Given the description of an element on the screen output the (x, y) to click on. 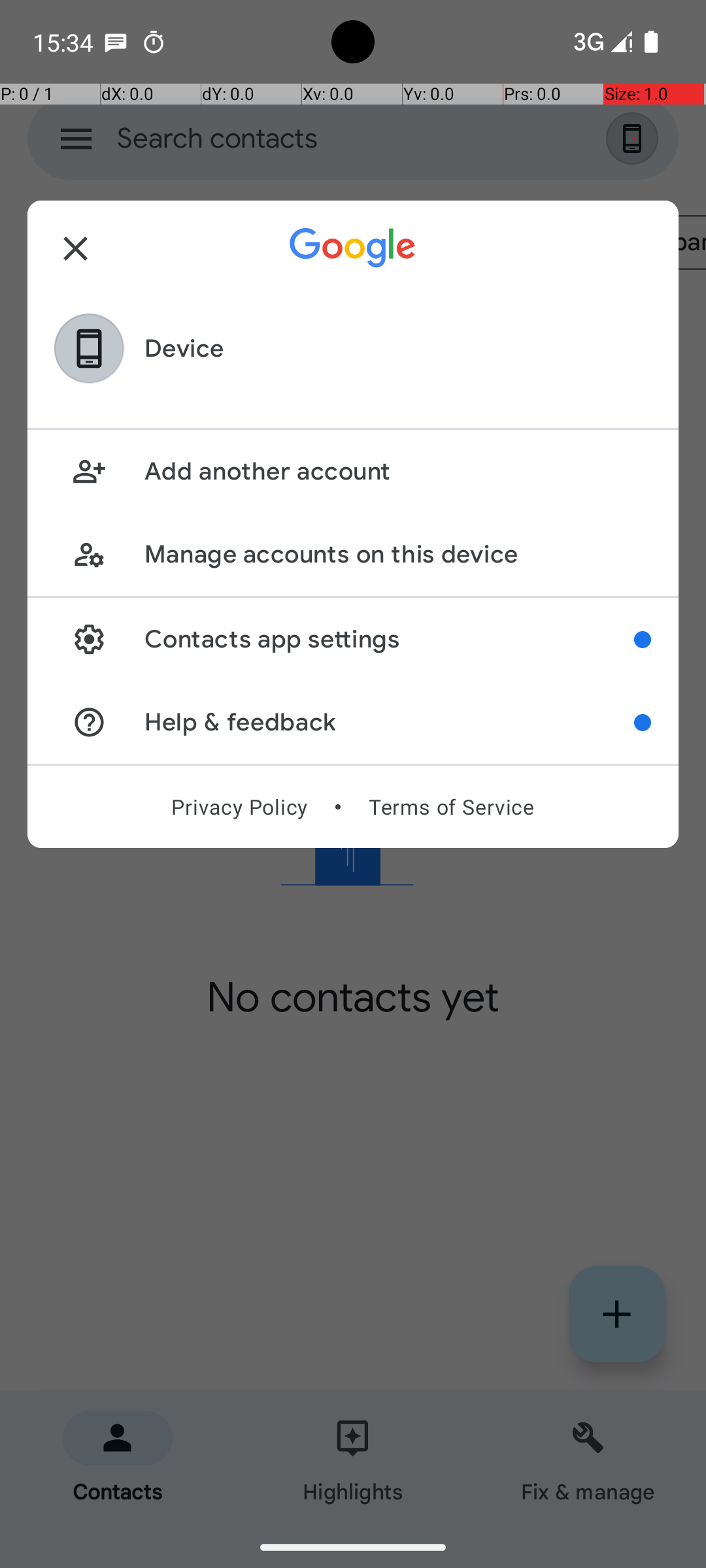
Add another account Element type: android.widget.TextView (397, 471)
Manage accounts on this device Element type: android.widget.TextView (397, 554)
Contacts app settings Element type: android.widget.TextView (389, 638)
